Given the description of an element on the screen output the (x, y) to click on. 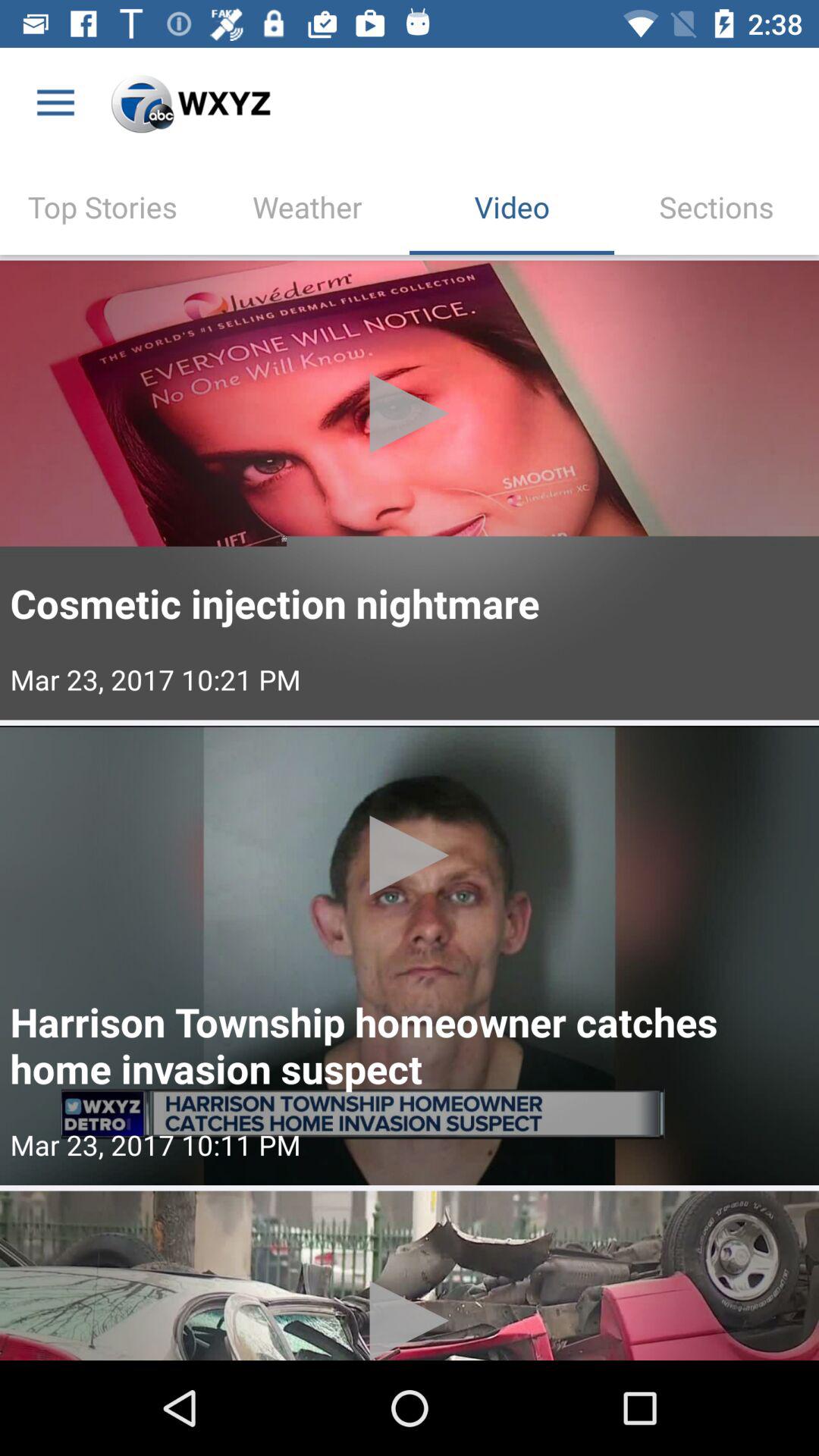
read article (409, 1275)
